Given the description of an element on the screen output the (x, y) to click on. 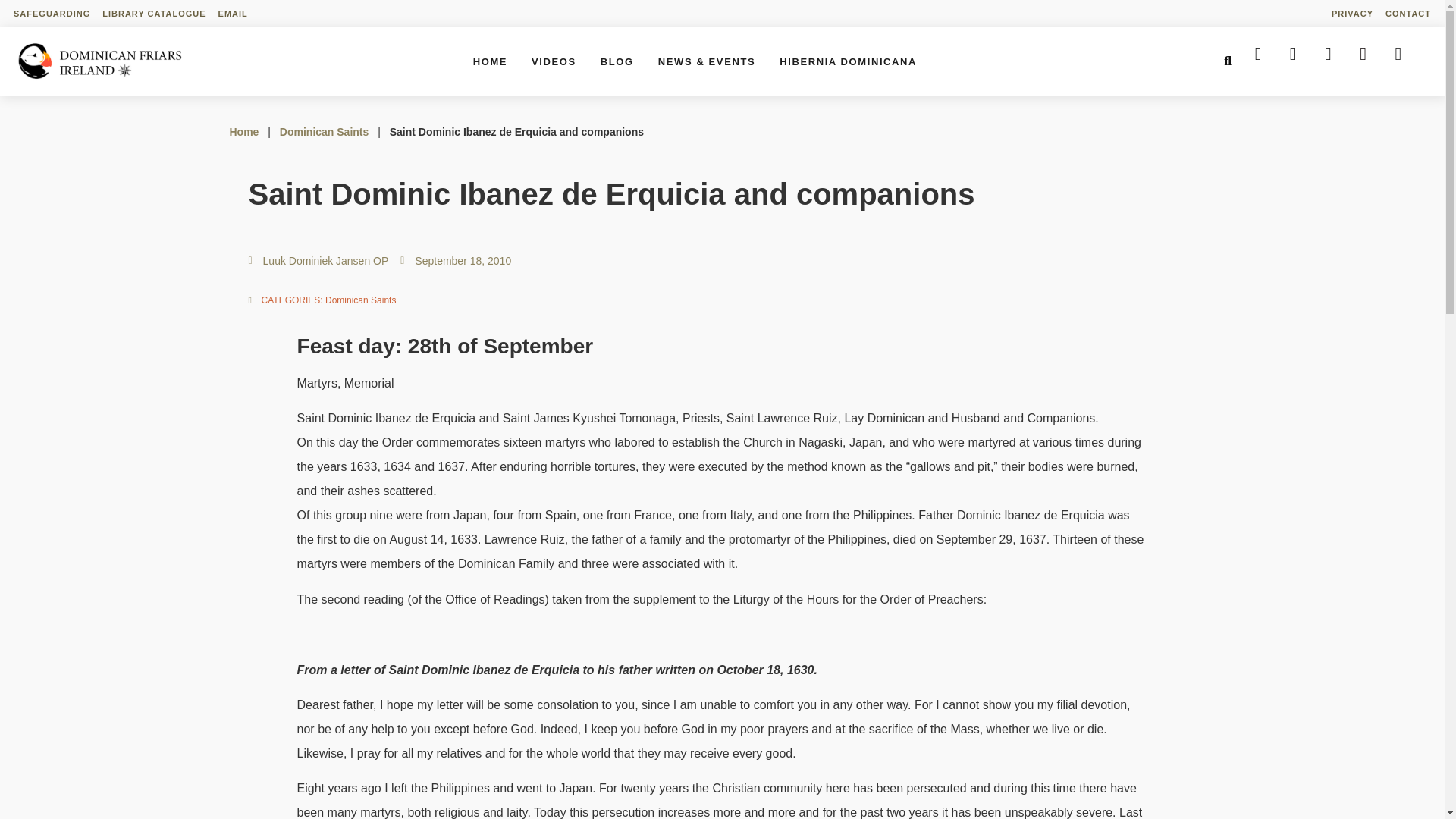
VIDEOS (553, 61)
Home (243, 132)
CONTACT (1407, 13)
LIBRARY CATALOGUE (153, 13)
Dominican Saints (323, 132)
PRIVACY (1351, 13)
Dominican Saints (360, 299)
Luuk Dominiek Jansen OP (318, 260)
BLOG (616, 61)
HIBERNIA DOMINICANA (847, 61)
September 18, 2010 (455, 260)
EMAIL (232, 13)
SAFEGUARDING (51, 13)
HOME (489, 61)
